Given the description of an element on the screen output the (x, y) to click on. 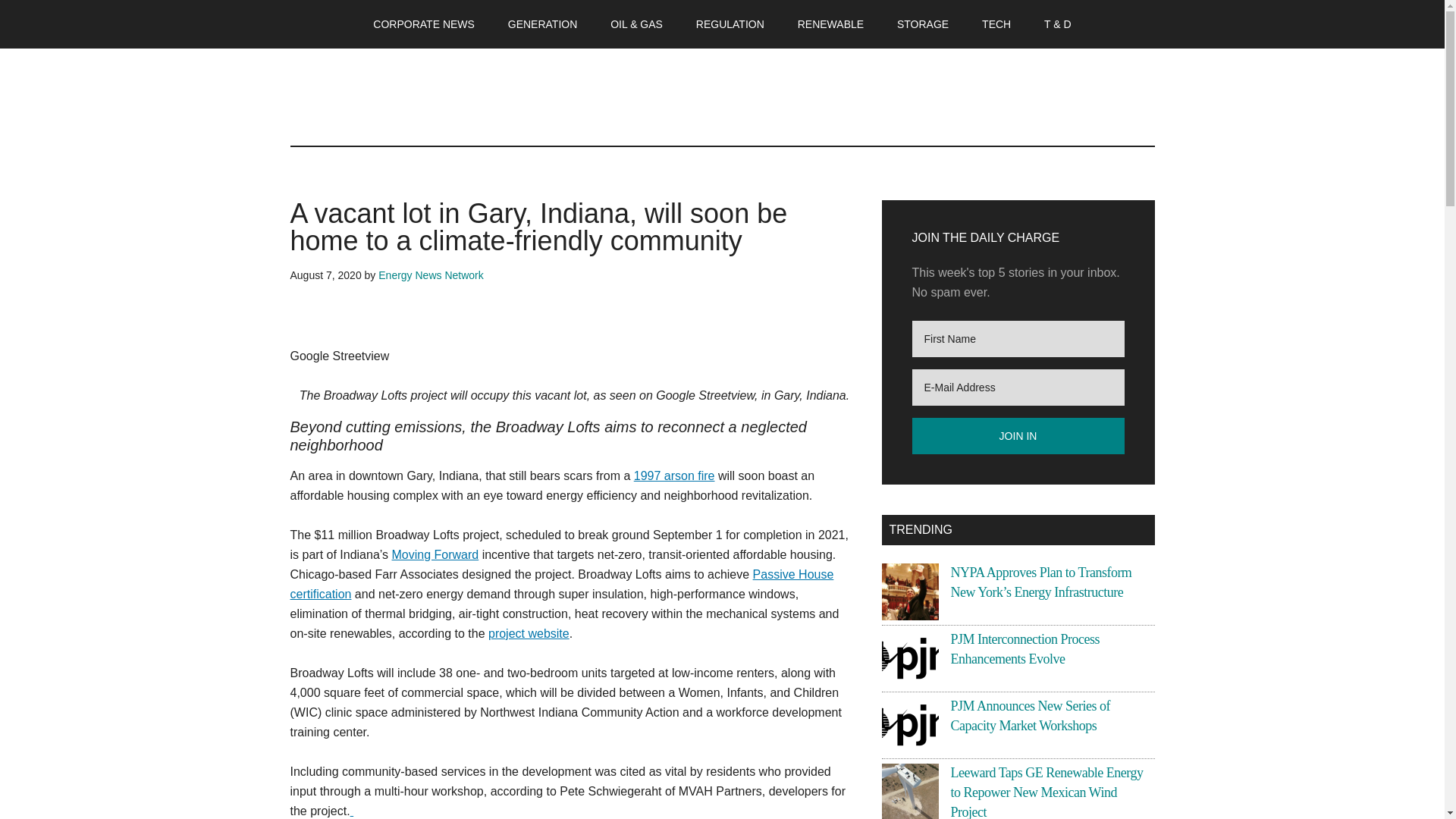
PJM Interconnection Process Enhancements Evolve (1024, 648)
PJM Announces New Series of Capacity Market Workshops (1029, 715)
GENERATION (542, 24)
CORPORATE NEWS (423, 24)
Join In (1017, 435)
project website (528, 633)
STORAGE (922, 24)
Join In (1017, 435)
RENEWABLE (831, 24)
Passive House certification (560, 584)
1997 arson fire (673, 475)
TECH (996, 24)
Energy News Network (430, 275)
REGULATION (729, 24)
